Given the description of an element on the screen output the (x, y) to click on. 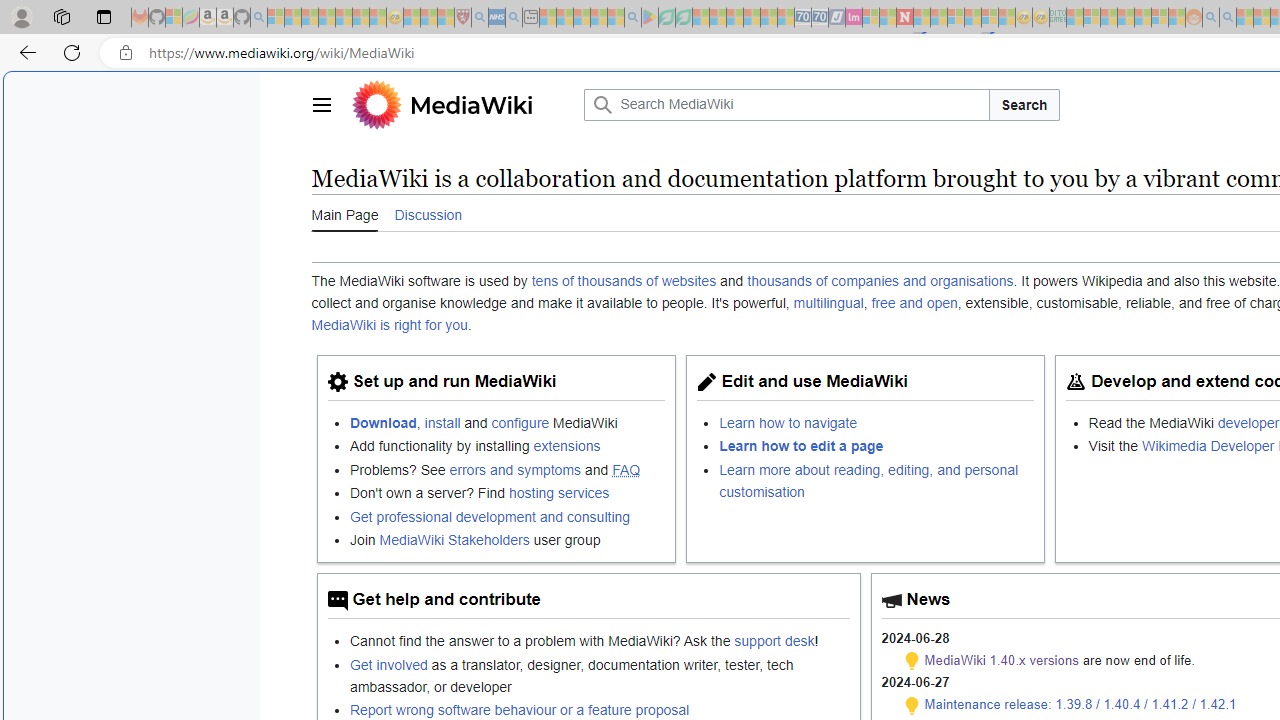
MediaWiki 1.40.x versions (1001, 660)
New Report Confirms 2023 Was Record Hot | Watch - Sleeping (343, 17)
Download, install and configure MediaWiki (507, 422)
Expert Portfolios - Sleeping (1125, 17)
Robert H. Shmerling, MD - Harvard Health - Sleeping (462, 17)
free and open (913, 303)
Local - MSN - Sleeping (445, 17)
Microsoft account | Privacy - Sleeping (1091, 17)
Learn how to navigate (877, 422)
Terms of Use Agreement - Sleeping (666, 17)
Don't own a server? Find hosting services (507, 492)
